Given the description of an element on the screen output the (x, y) to click on. 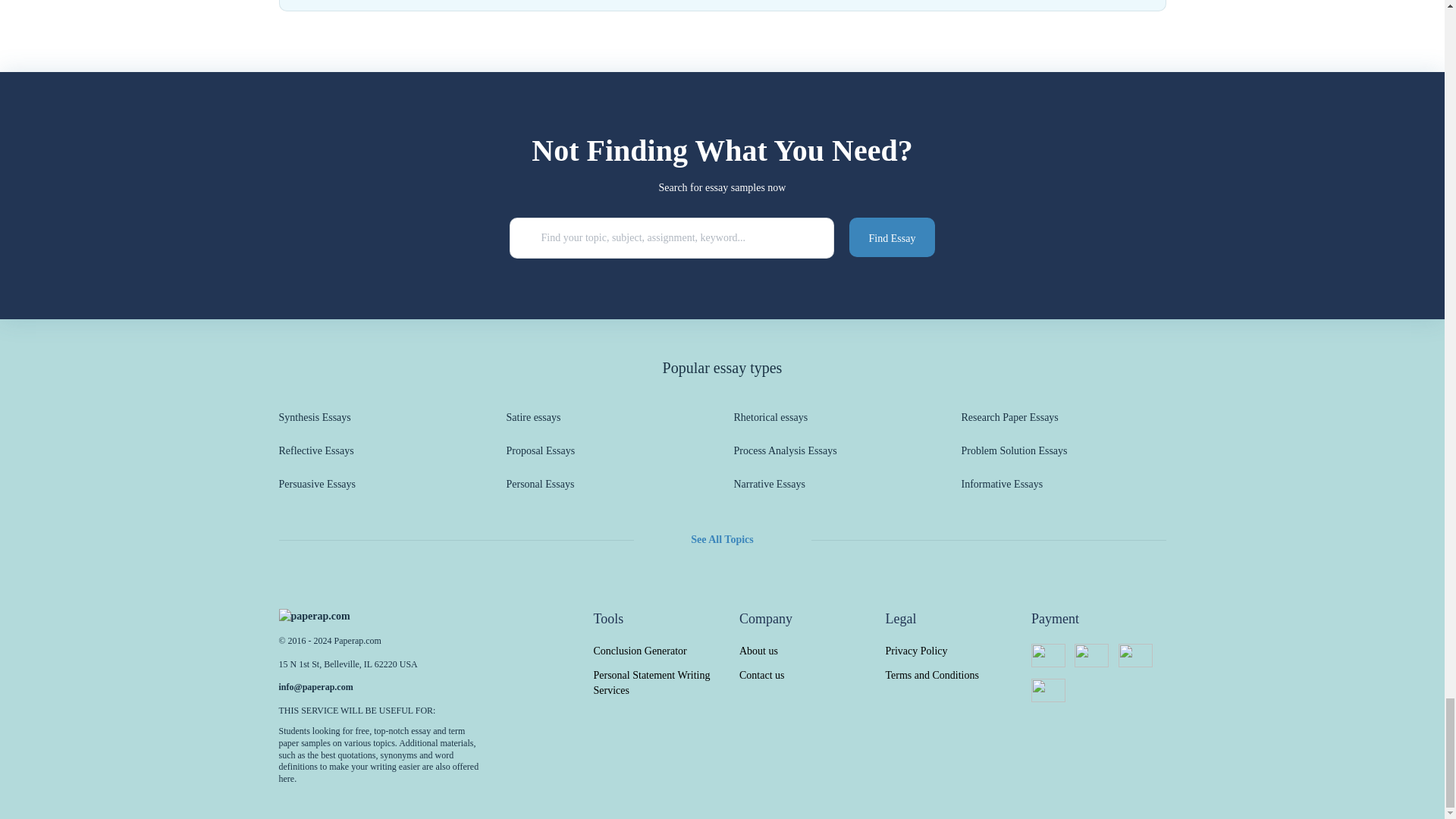
Find Essay (892, 237)
